Given the description of an element on the screen output the (x, y) to click on. 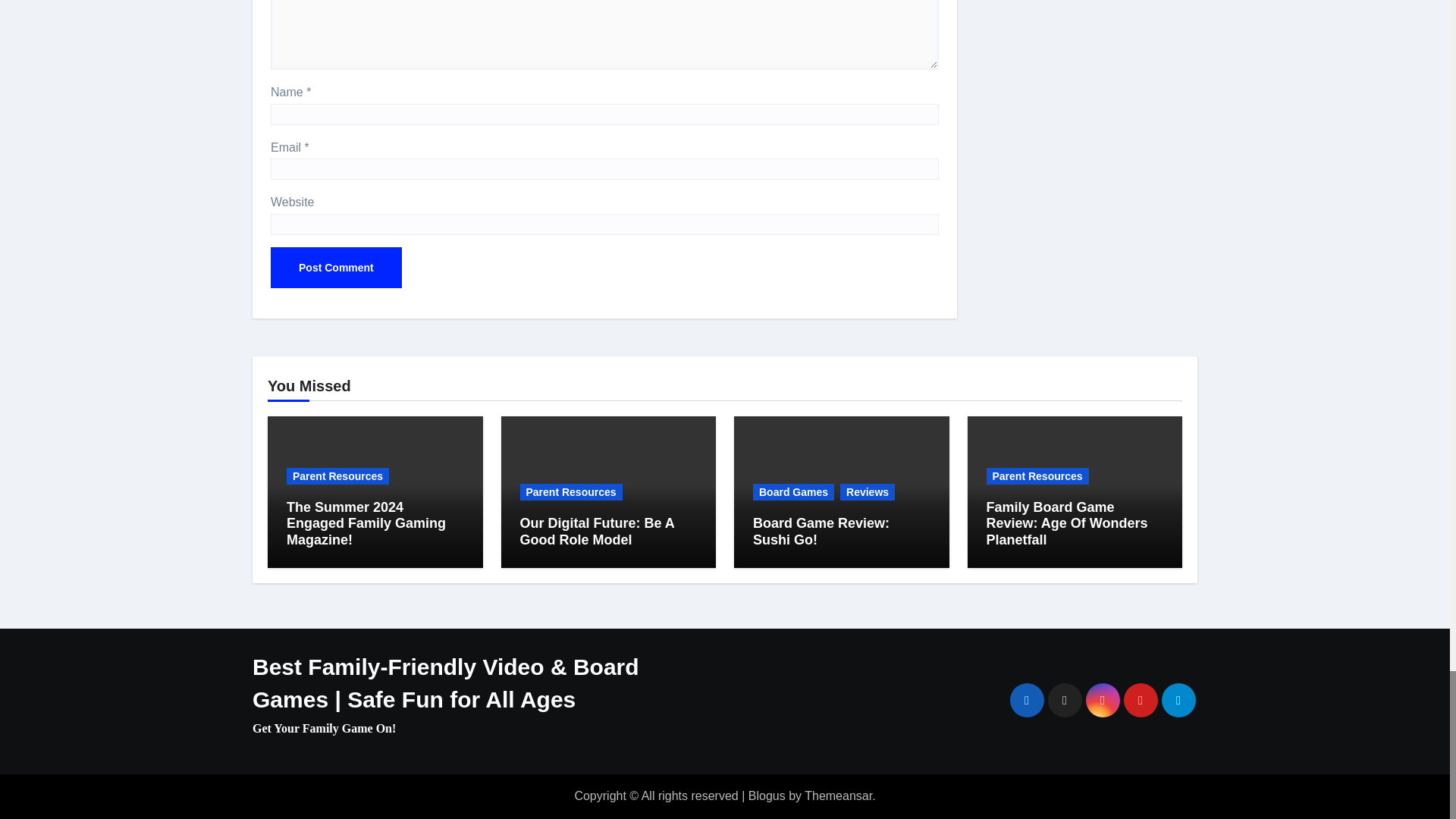
Permalink to: Board Game Review: Sushi Go! (820, 531)
Post Comment (335, 267)
Permalink to: Our Digital Future: Be A Good Role Model (597, 531)
